Given the description of an element on the screen output the (x, y) to click on. 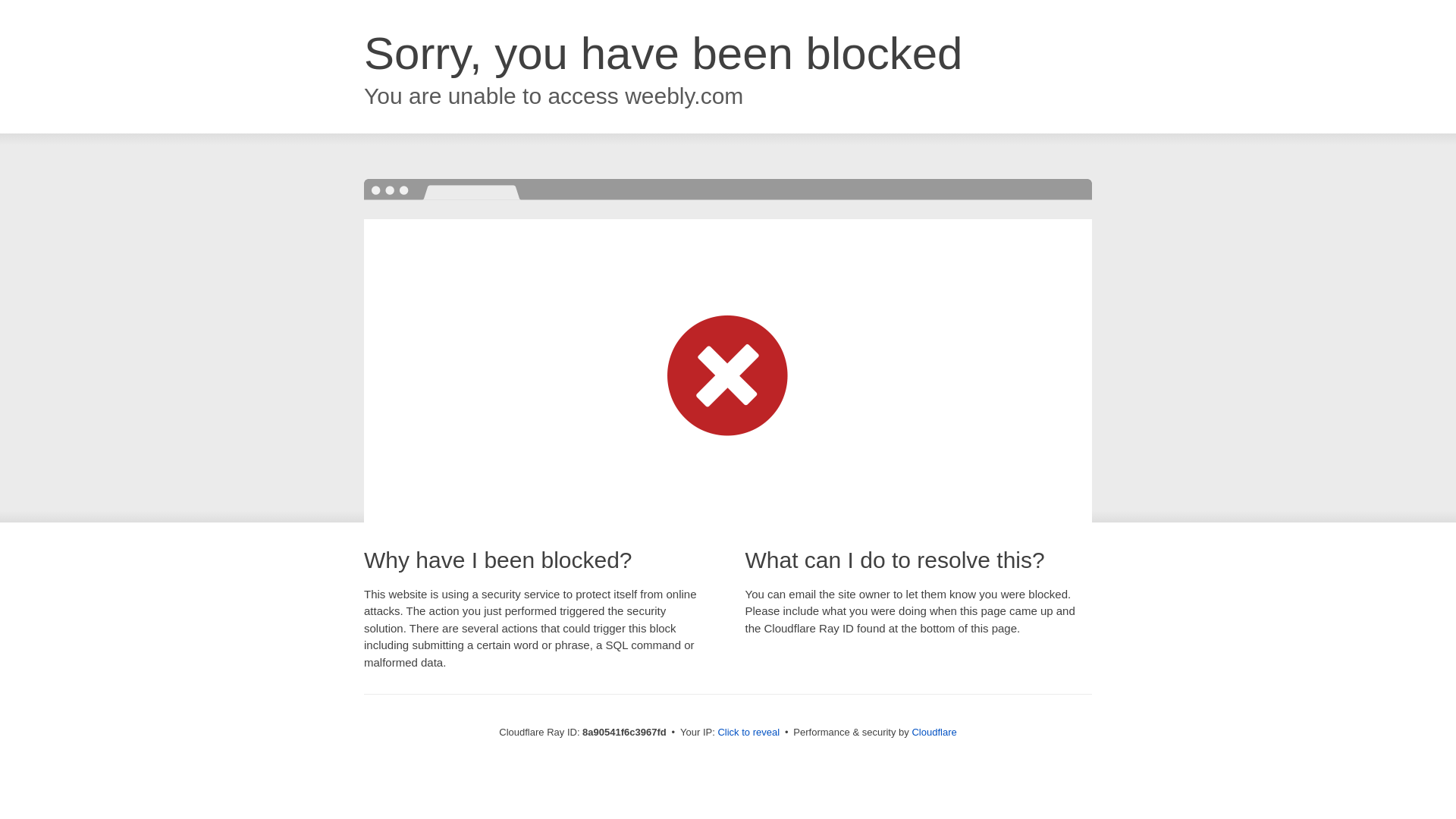
Click to reveal (747, 732)
Cloudflare (933, 731)
